Given the description of an element on the screen output the (x, y) to click on. 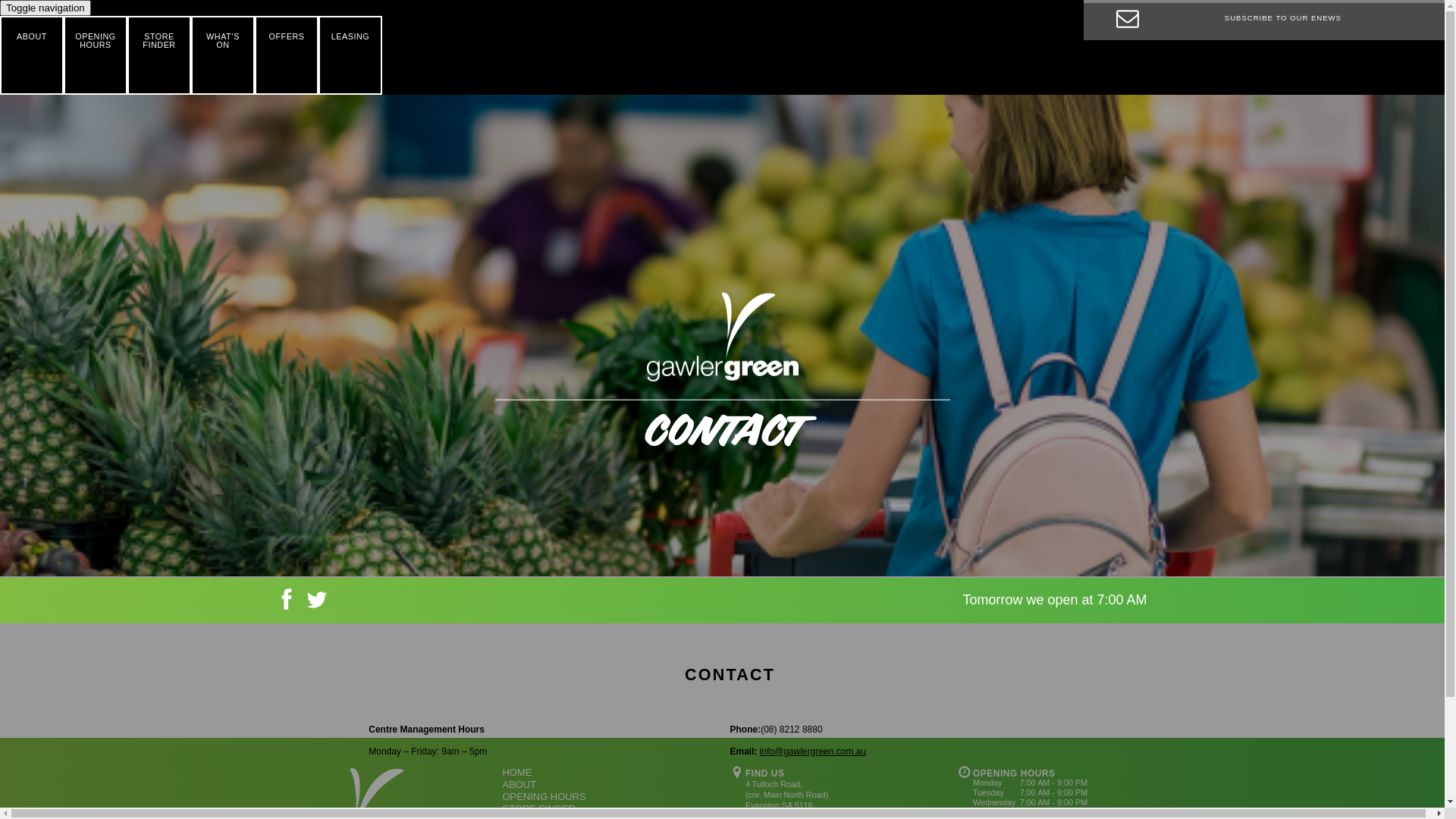
Twitter Element type: hover (315, 602)
STORE FINDER Element type: text (159, 54)
OPENING HOURS Element type: text (95, 54)
ABOUT Element type: text (31, 54)
LEASING Element type: text (350, 54)
OPENING HOURS Element type: text (543, 796)
OFFERS Element type: text (286, 54)
ABOUT Element type: text (519, 784)
info@gawlergreen.com.au Element type: text (812, 751)
HOME Element type: text (516, 772)
SUBSCRIBE TO OUR ENEWS Element type: text (1263, 20)
Facebook Element type: hover (285, 602)
Toggle navigation Element type: text (45, 7)
STORE FINDER Element type: text (538, 808)
